Given the description of an element on the screen output the (x, y) to click on. 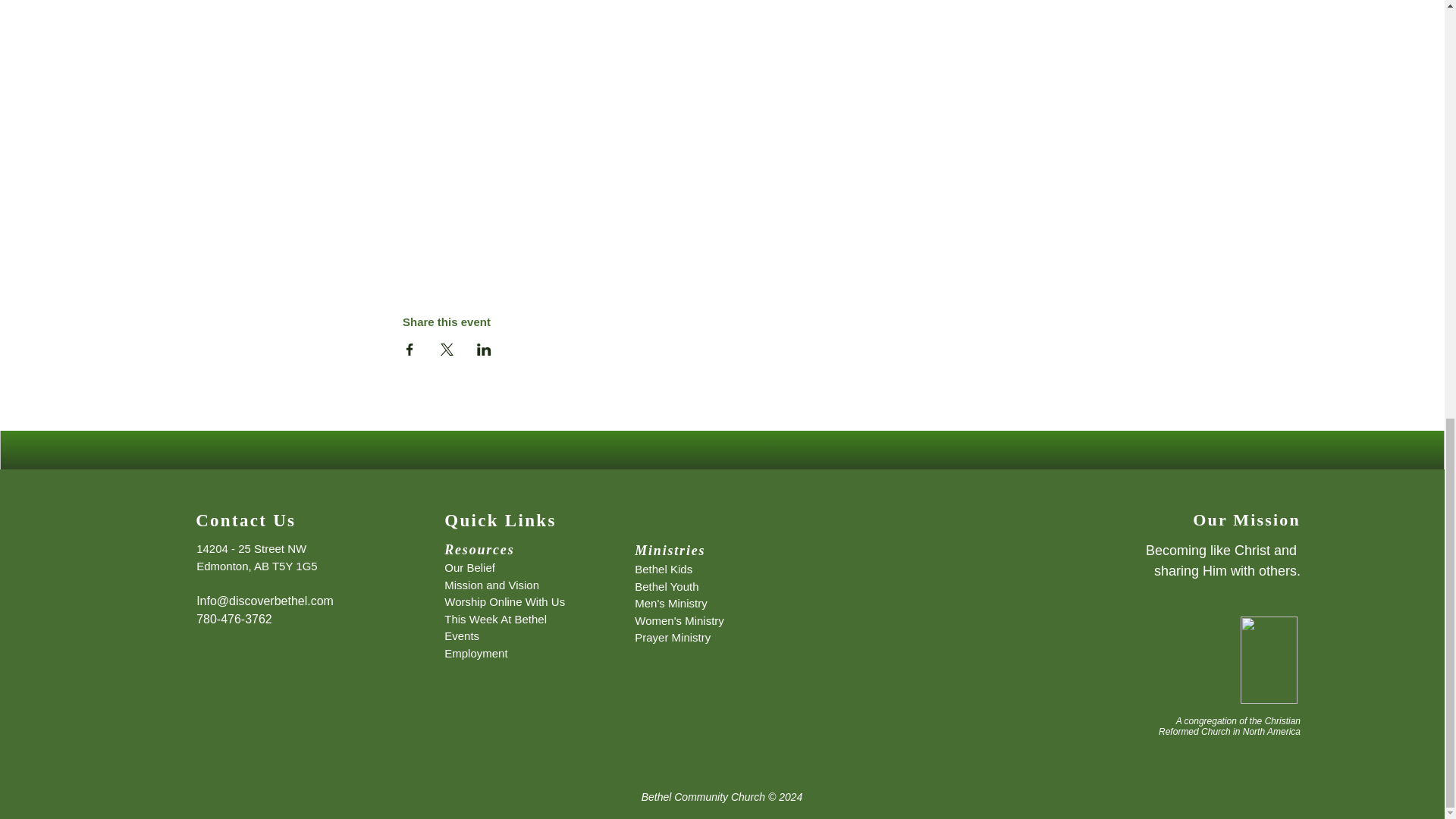
Bethel Youth (666, 585)
Our Belief (469, 567)
Events (461, 635)
Emplo (460, 653)
780-476-3762 (234, 618)
Women's Ministry (678, 620)
Bethel Community Church (703, 797)
Men's Ministry (670, 603)
Prayer Ministry (672, 636)
yment (492, 653)
Bethel Kids (663, 568)
Worship Online With Us (504, 601)
Mission and Vision (491, 584)
Christian (1282, 720)
This Week At Bethel (495, 618)
